Given the description of an element on the screen output the (x, y) to click on. 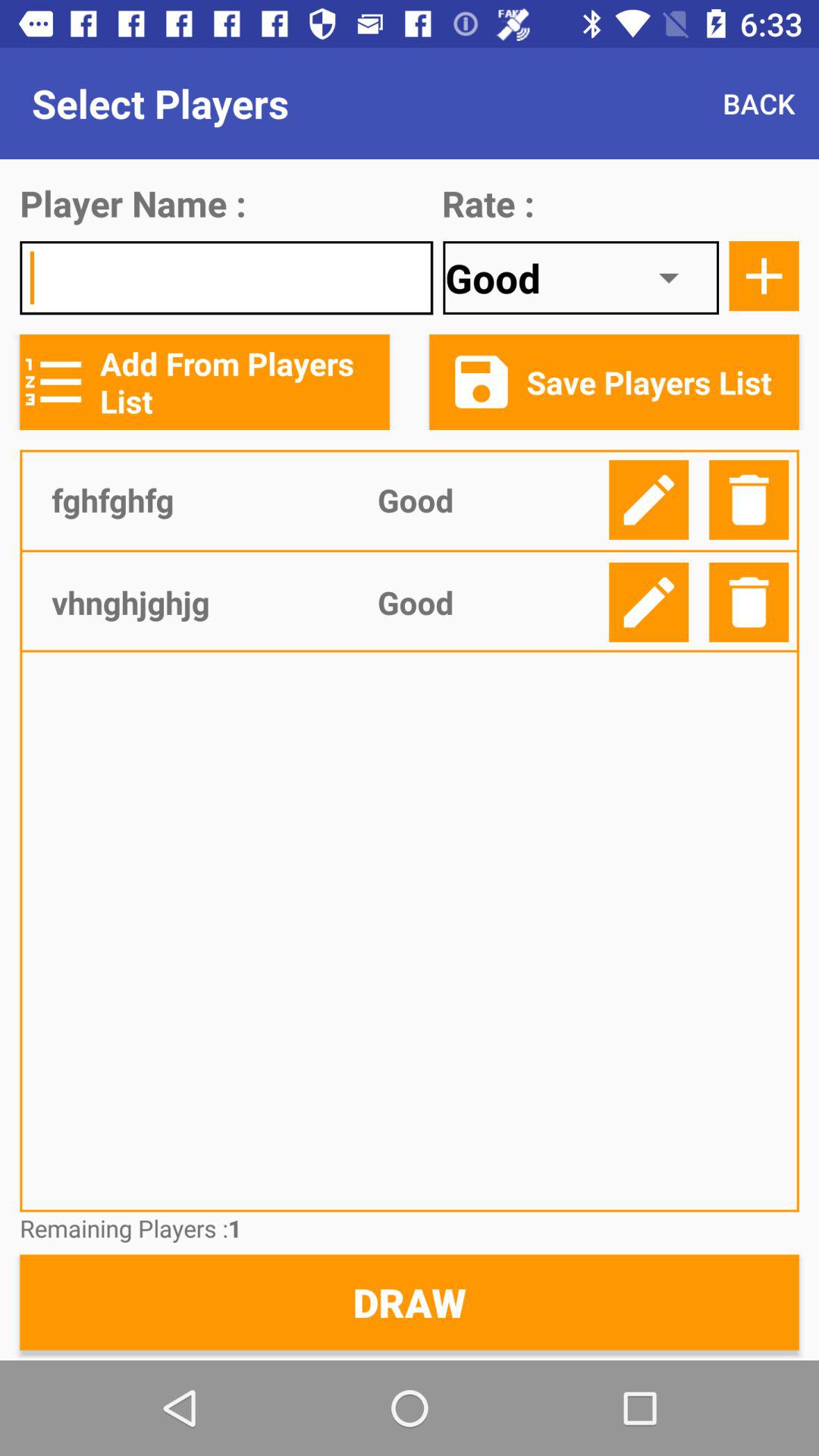
shows delete option (748, 499)
